Given the description of an element on the screen output the (x, y) to click on. 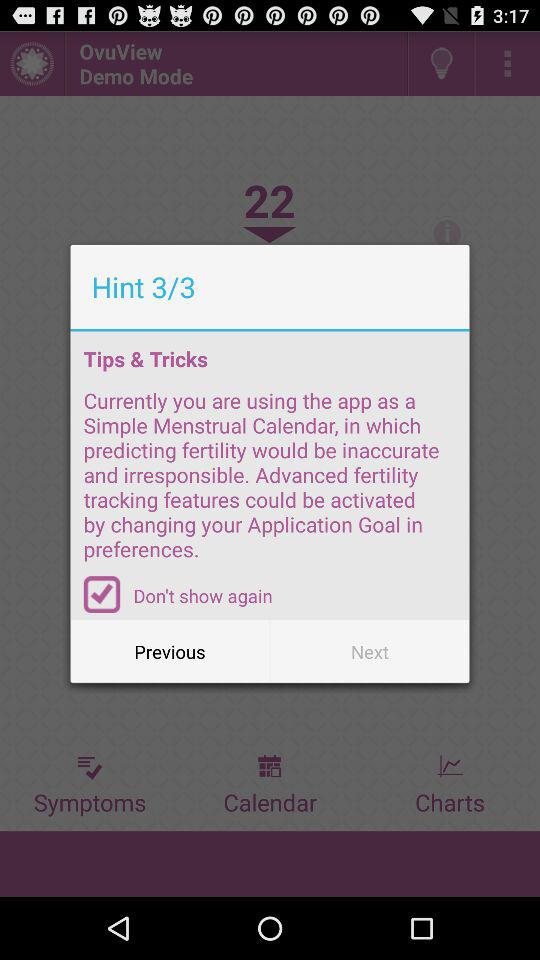
tap the app to the left of don t show (101, 594)
